Given the description of an element on the screen output the (x, y) to click on. 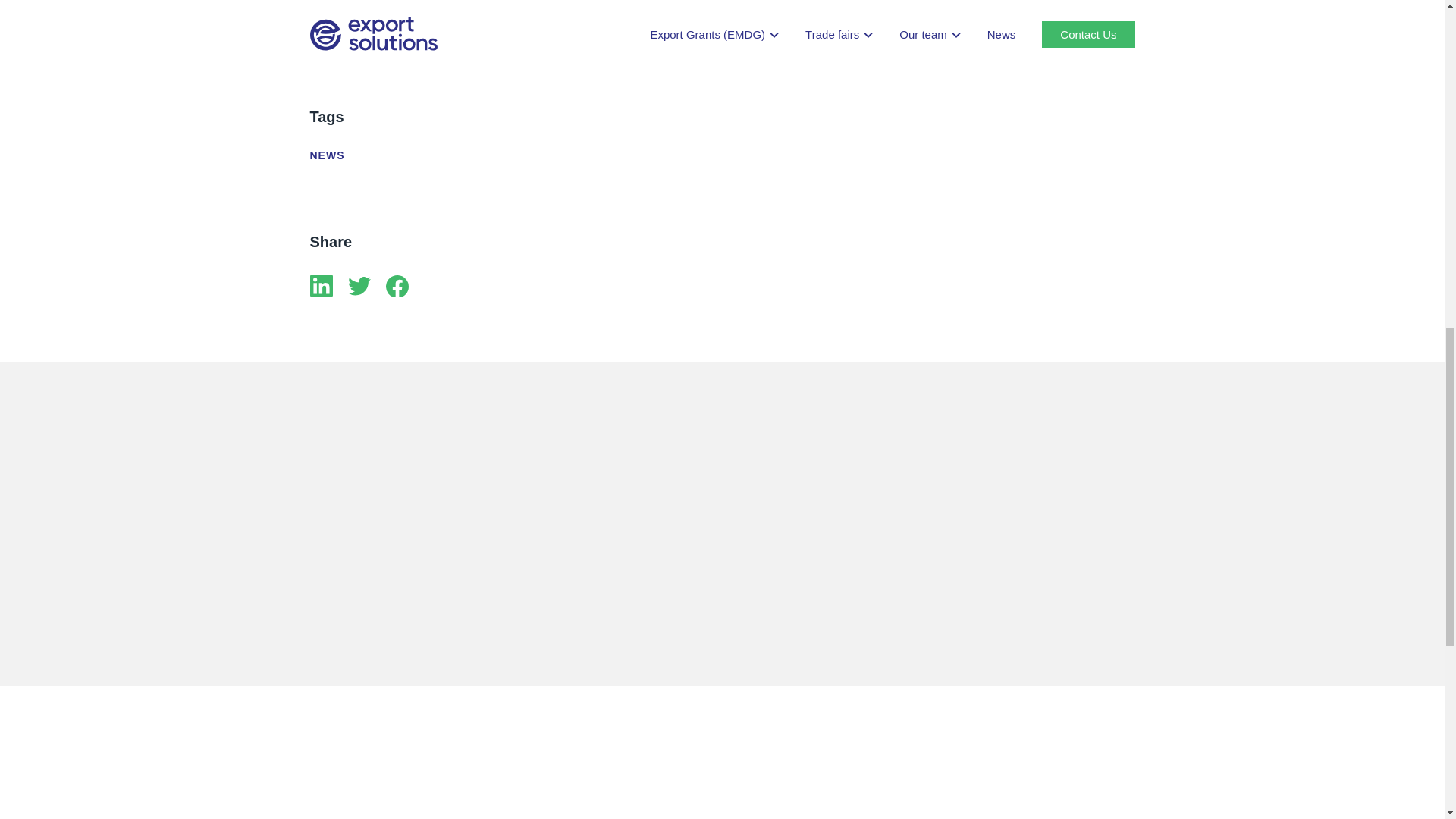
Share on Twitter (358, 287)
News (325, 155)
